Given the description of an element on the screen output the (x, y) to click on. 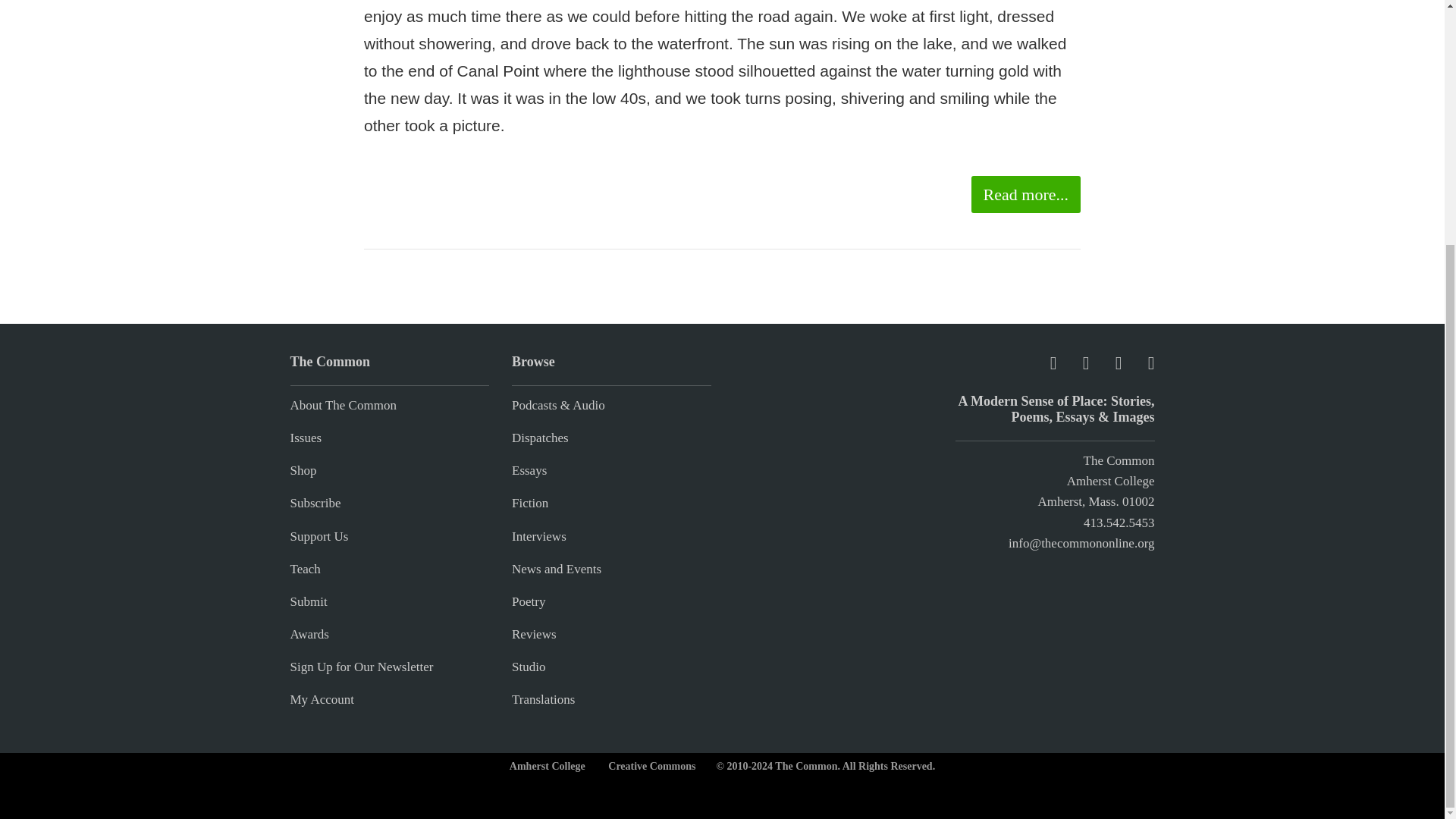
Subscribe (314, 503)
Support Us (318, 536)
Awards (309, 634)
Interviews (539, 536)
About The Common (342, 405)
Poetry (528, 601)
Teach (304, 568)
Shop (302, 470)
Reviews (534, 634)
Dispatches (540, 437)
